Given the description of an element on the screen output the (x, y) to click on. 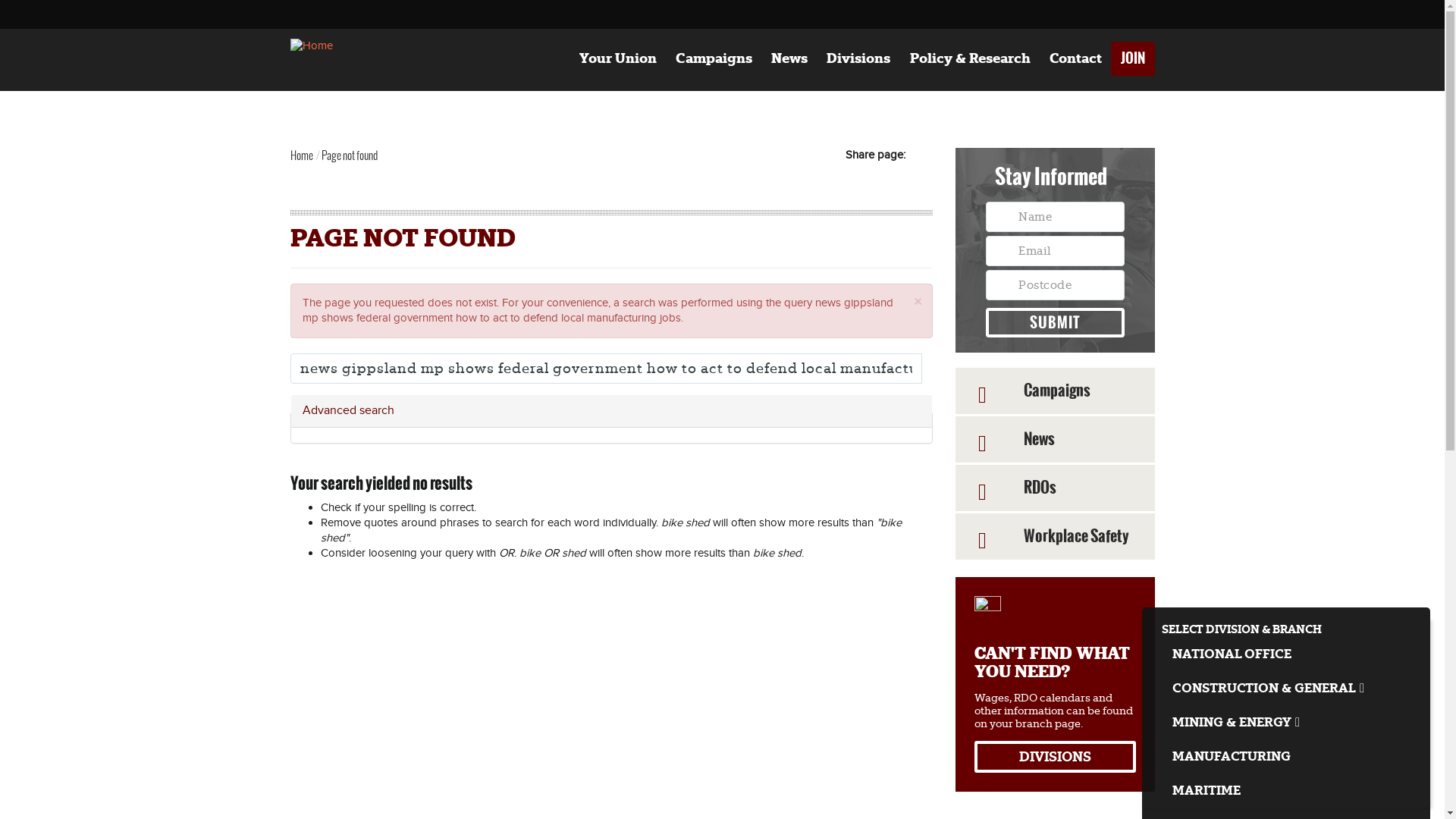
NATIONAL OFFICE Element type: text (1285, 653)
Contact Element type: text (1074, 58)
RDOs Element type: text (1054, 487)
DIVISIONS Element type: text (1054, 756)
MINING & ENERGY Element type: text (1285, 721)
Home Element type: text (300, 155)
MANUFACTURING Element type: text (1285, 755)
Campaigns Element type: text (1054, 390)
News Element type: text (1054, 439)
Campaigns Element type: text (713, 58)
Your Union Element type: text (617, 58)
Policy & Research Element type: text (969, 58)
MARITIME Element type: text (1285, 790)
Advanced search Element type: text (610, 410)
Workplace Safety Element type: text (1054, 536)
JOIN Element type: text (1132, 58)
Home Element type: hover (310, 45)
SUBMIT Element type: text (1054, 322)
CONSTRUCTION & GENERAL Element type: text (1285, 687)
Divisions Element type: text (858, 58)
News Element type: text (789, 58)
